Given the description of an element on the screen output the (x, y) to click on. 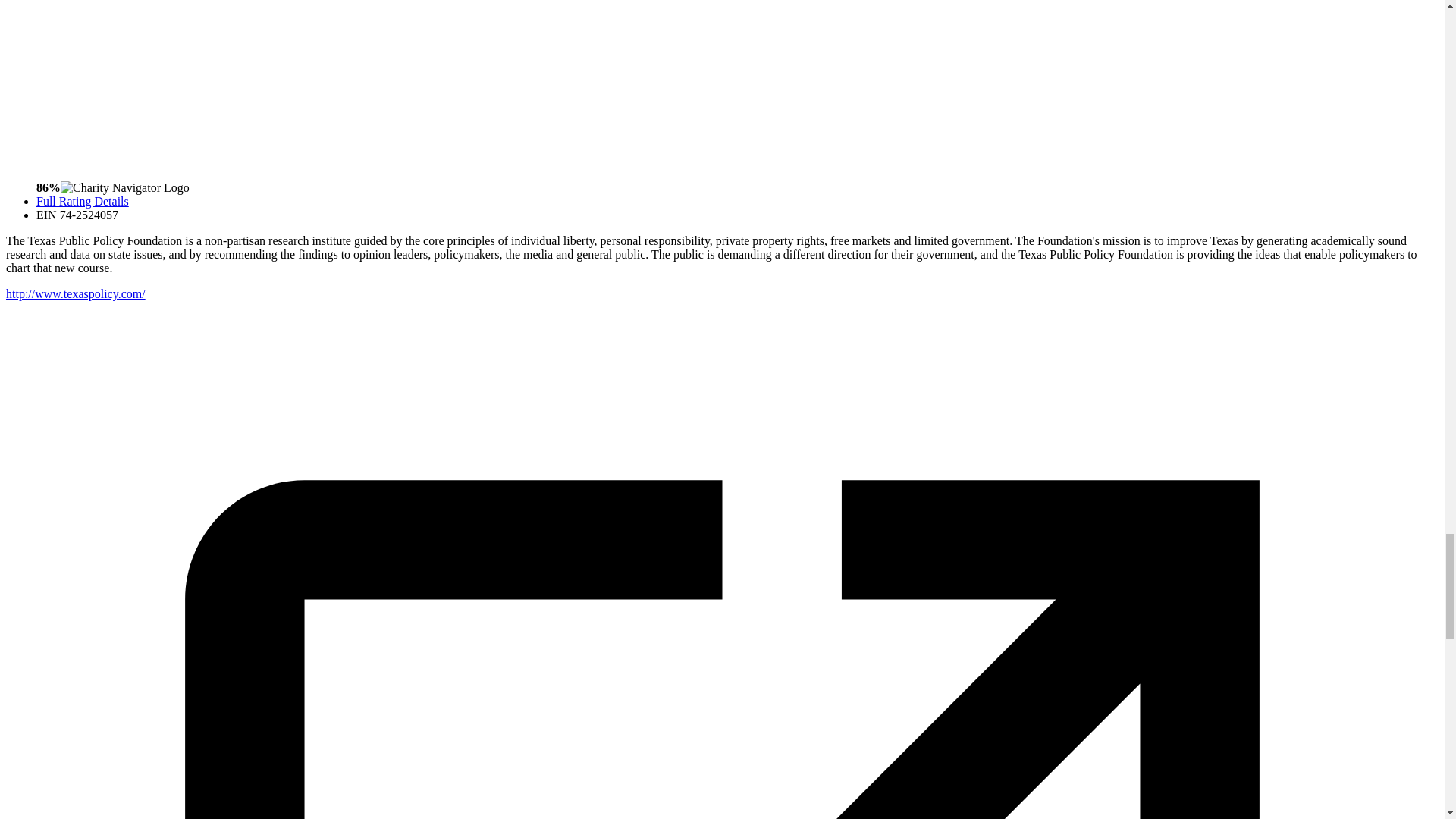
Full Rating Details (82, 201)
